Given the description of an element on the screen output the (x, y) to click on. 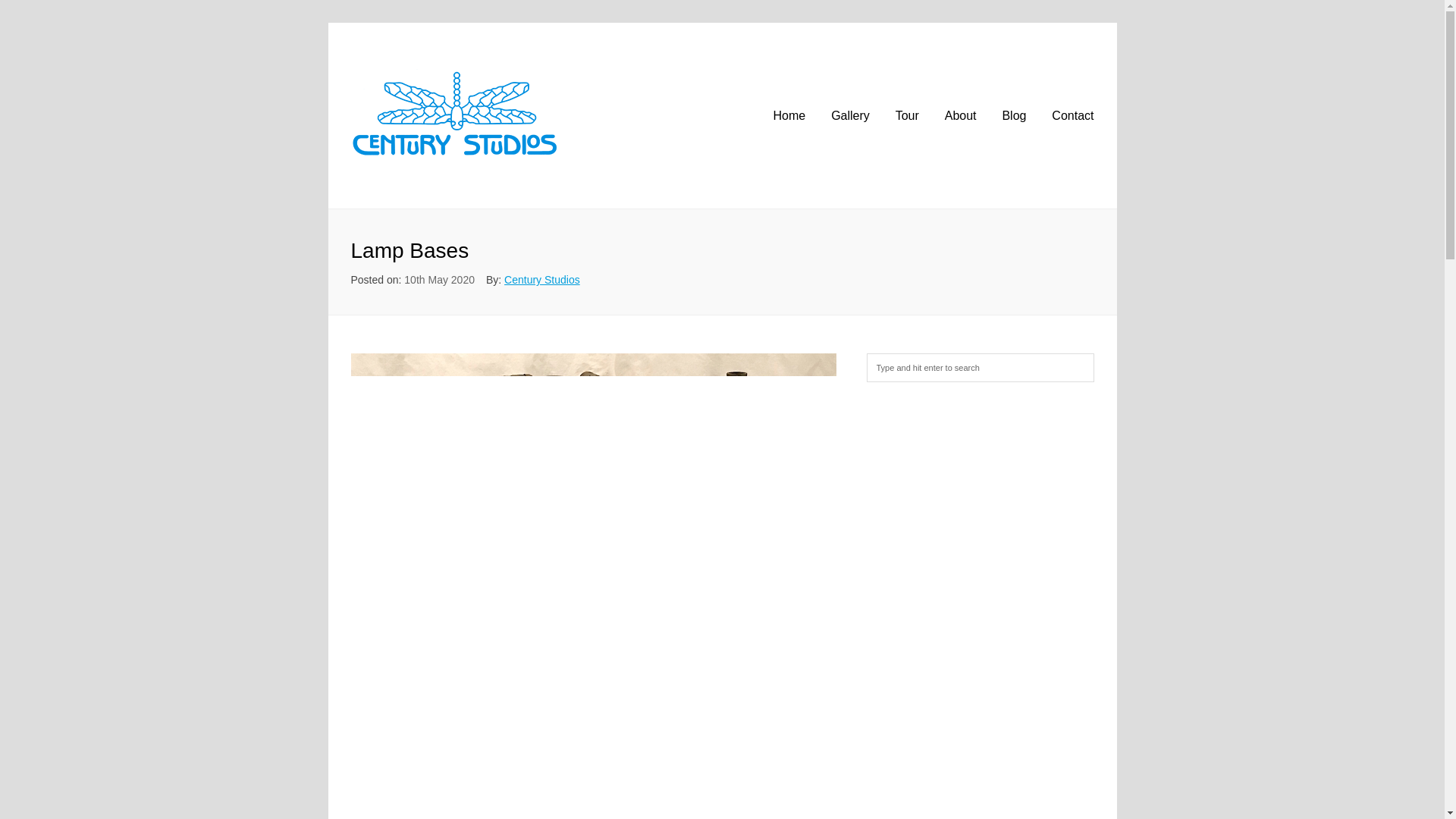
Gallery (850, 115)
Posts by Century Studios (541, 279)
Century Studios (541, 279)
Home (789, 115)
Type and hit enter to search (979, 367)
Tour (906, 115)
Blog (1013, 115)
Type and hit enter to search (979, 367)
Contact (1072, 115)
About (960, 115)
